Given the description of an element on the screen output the (x, y) to click on. 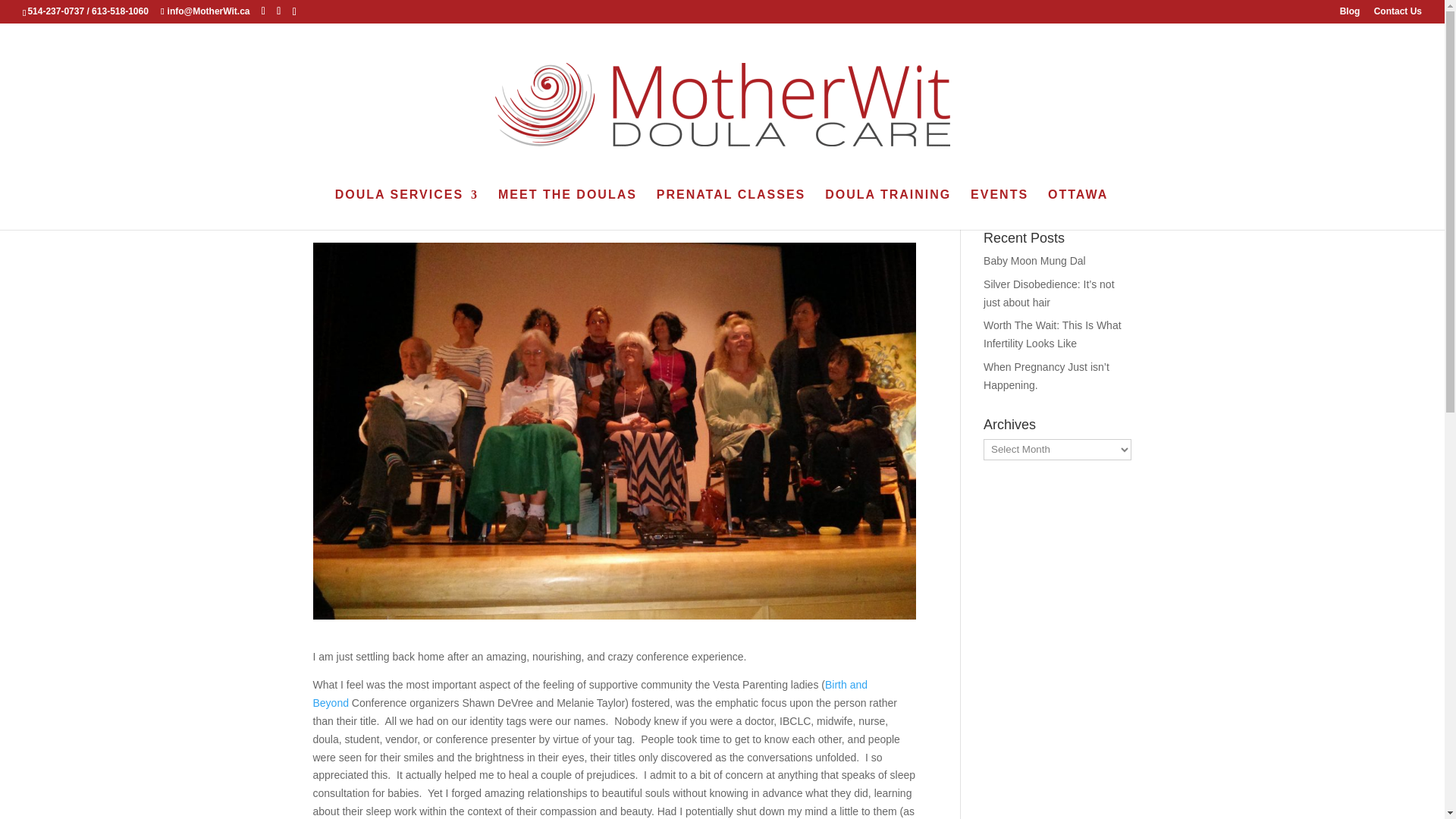
Uncategorized (480, 216)
OTTAWA (1078, 209)
DOULA TRAINING (887, 209)
DOULA SERVICES (406, 209)
Posts by MotherWit (350, 216)
Search (1106, 193)
Worth The Wait: This Is What Infertility Looks Like (1052, 334)
Birth and Beyond (590, 693)
Contact Us (1398, 14)
MotherWit (350, 216)
